Given the description of an element on the screen output the (x, y) to click on. 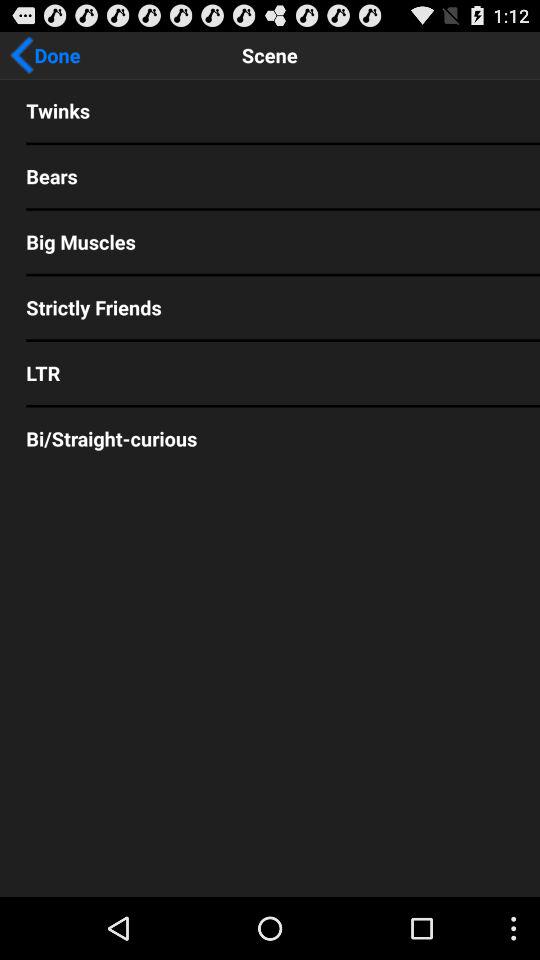
jump to the ltr item (270, 372)
